Given the description of an element on the screen output the (x, y) to click on. 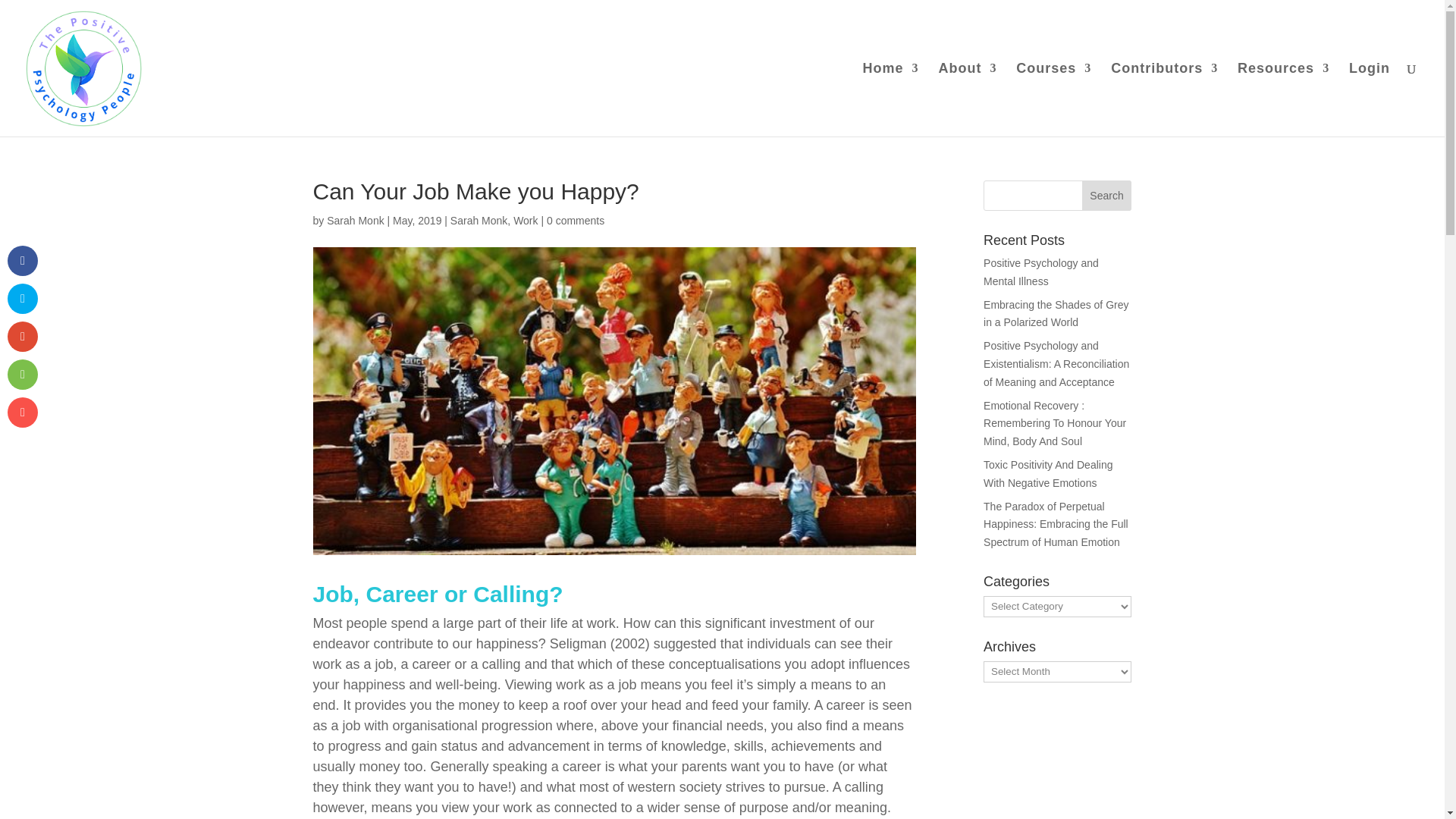
Contributors (1163, 99)
Search (1106, 195)
Resources (1283, 99)
Posts by Sarah Monk (355, 220)
Courses (1053, 99)
